Given the description of an element on the screen output the (x, y) to click on. 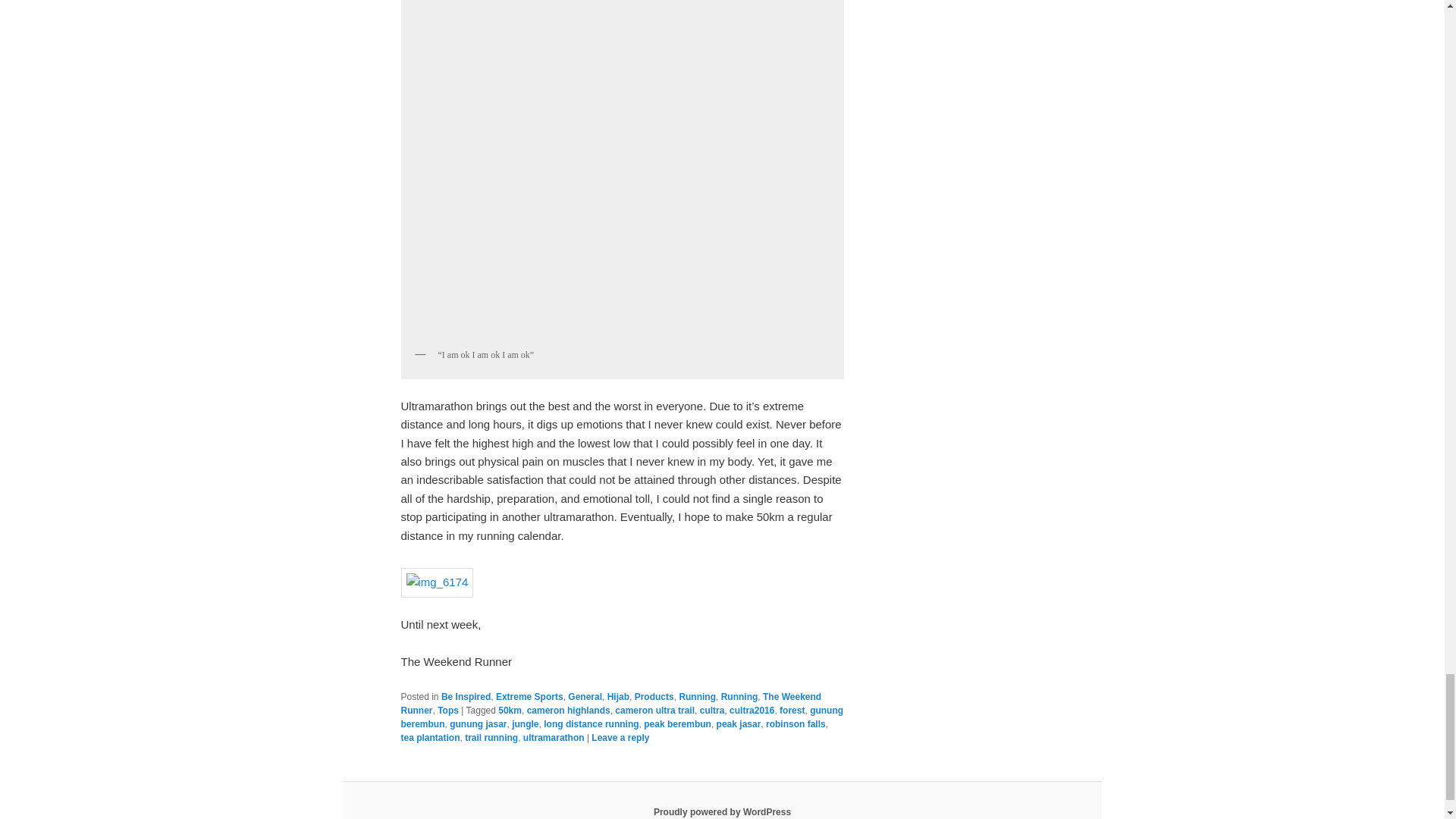
Running (697, 696)
Be Inspired (465, 696)
Extreme Sports (529, 696)
General (584, 696)
Products (654, 696)
Semantic Personal Publishing Platform (721, 811)
Running (739, 696)
Hijab (617, 696)
